Given the description of an element on the screen output the (x, y) to click on. 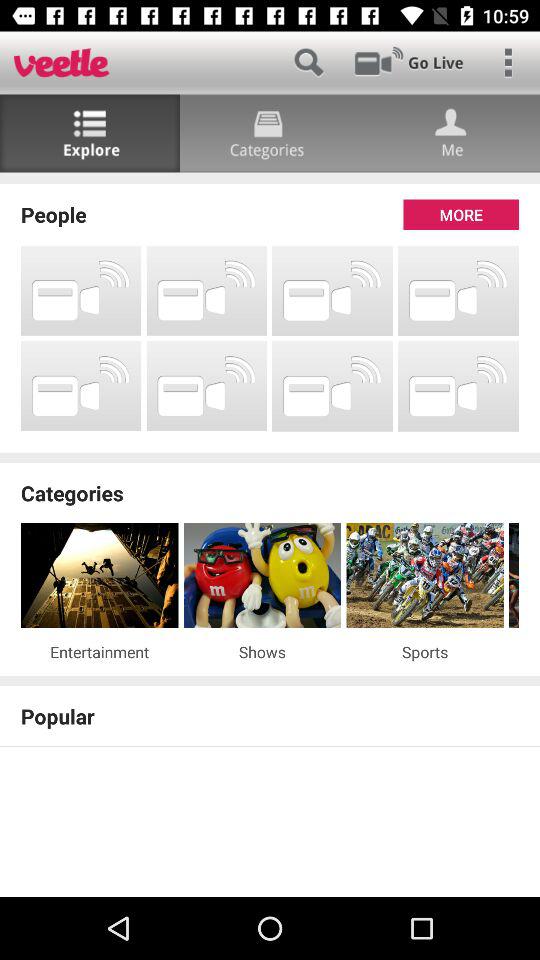
open explore menu (90, 133)
